Given the description of an element on the screen output the (x, y) to click on. 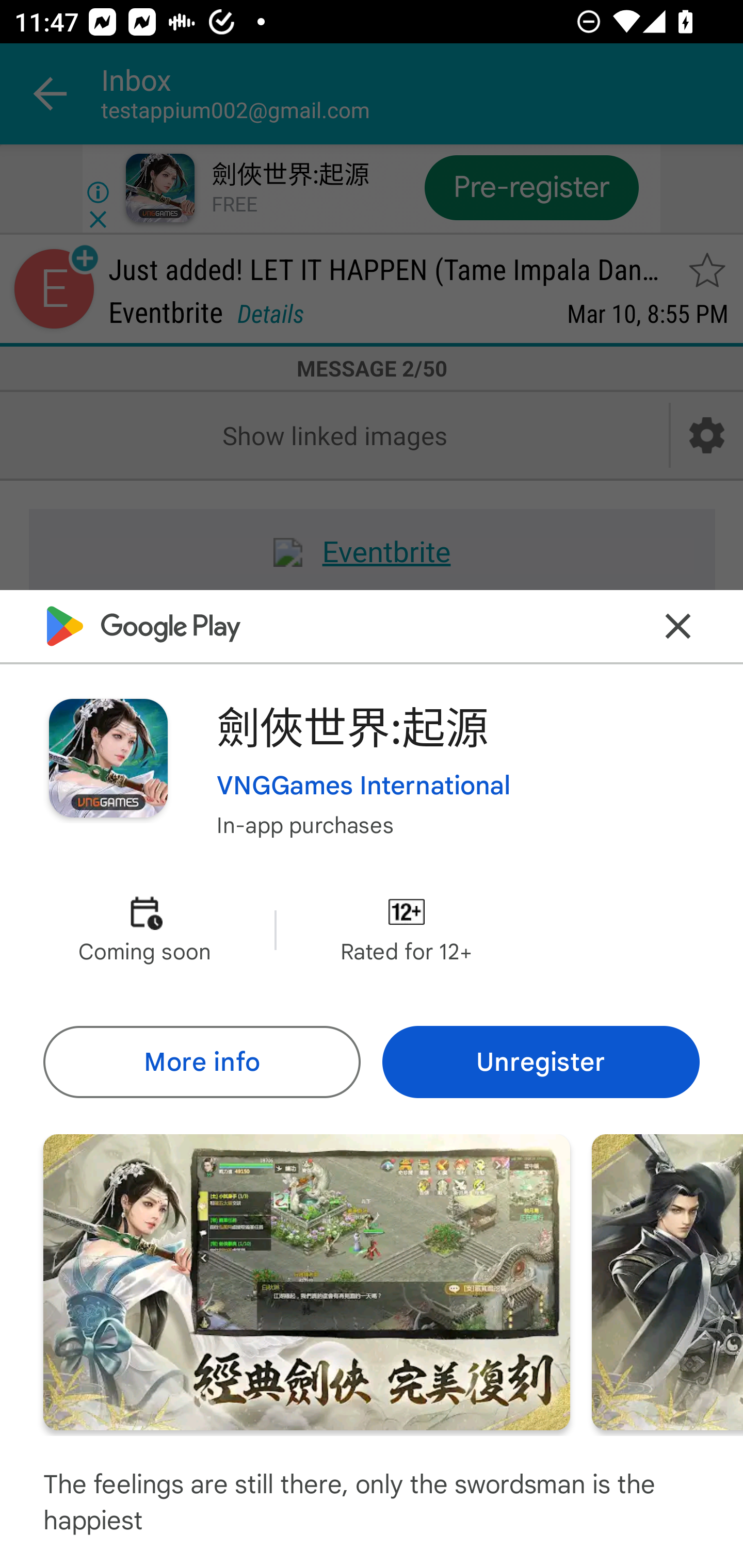
Close (677, 625)
Image of app or game icon for 劍俠世界:起源 (108, 758)
VNGGames International (363, 784)
More info (201, 1061)
Unregister (540, 1061)
Screenshot "1" of "5" (306, 1281)
